Given the description of an element on the screen output the (x, y) to click on. 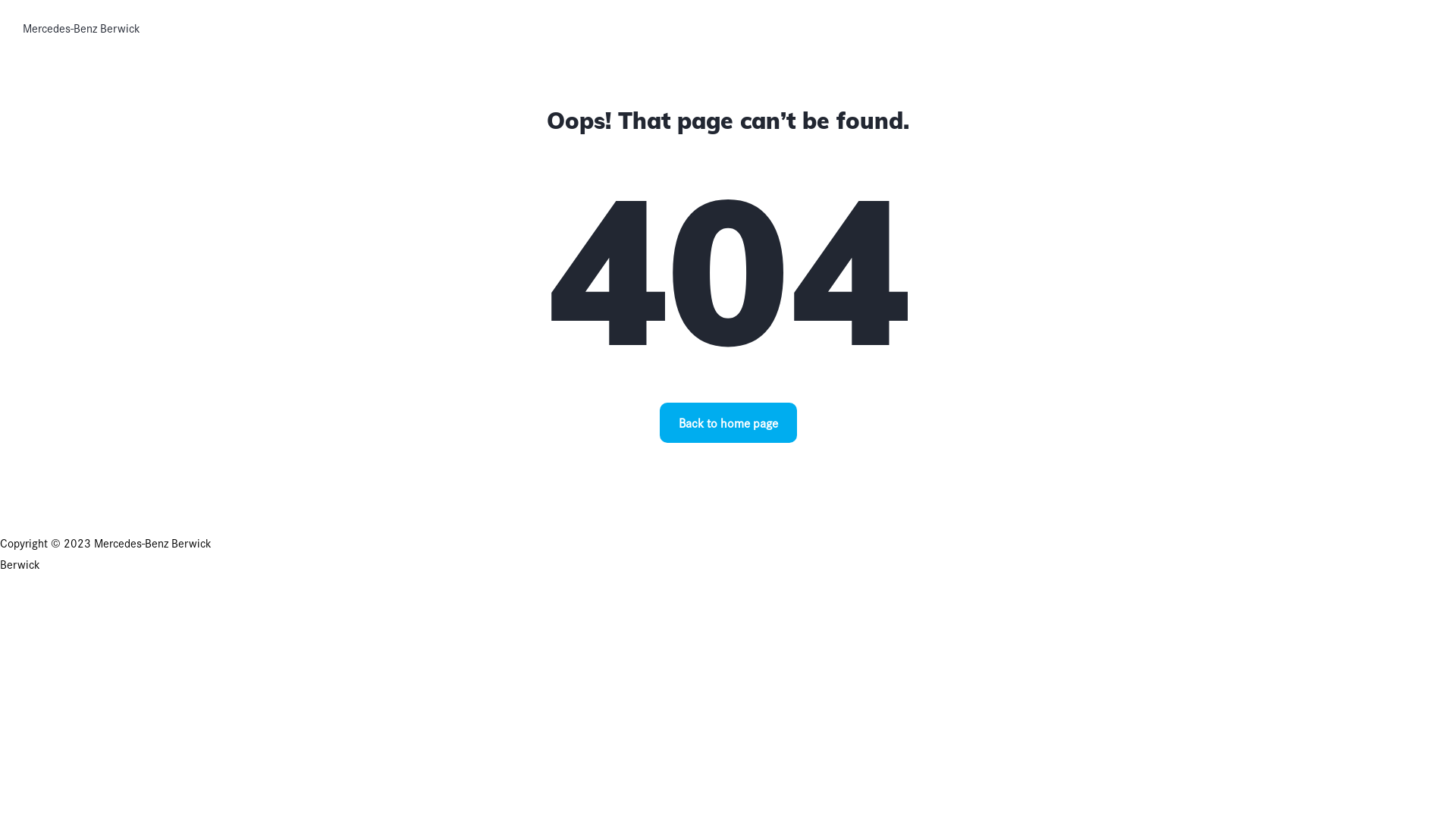
Mercedes-Benz Berwick Element type: text (81, 27)
Back to home page Element type: text (728, 422)
